Given the description of an element on the screen output the (x, y) to click on. 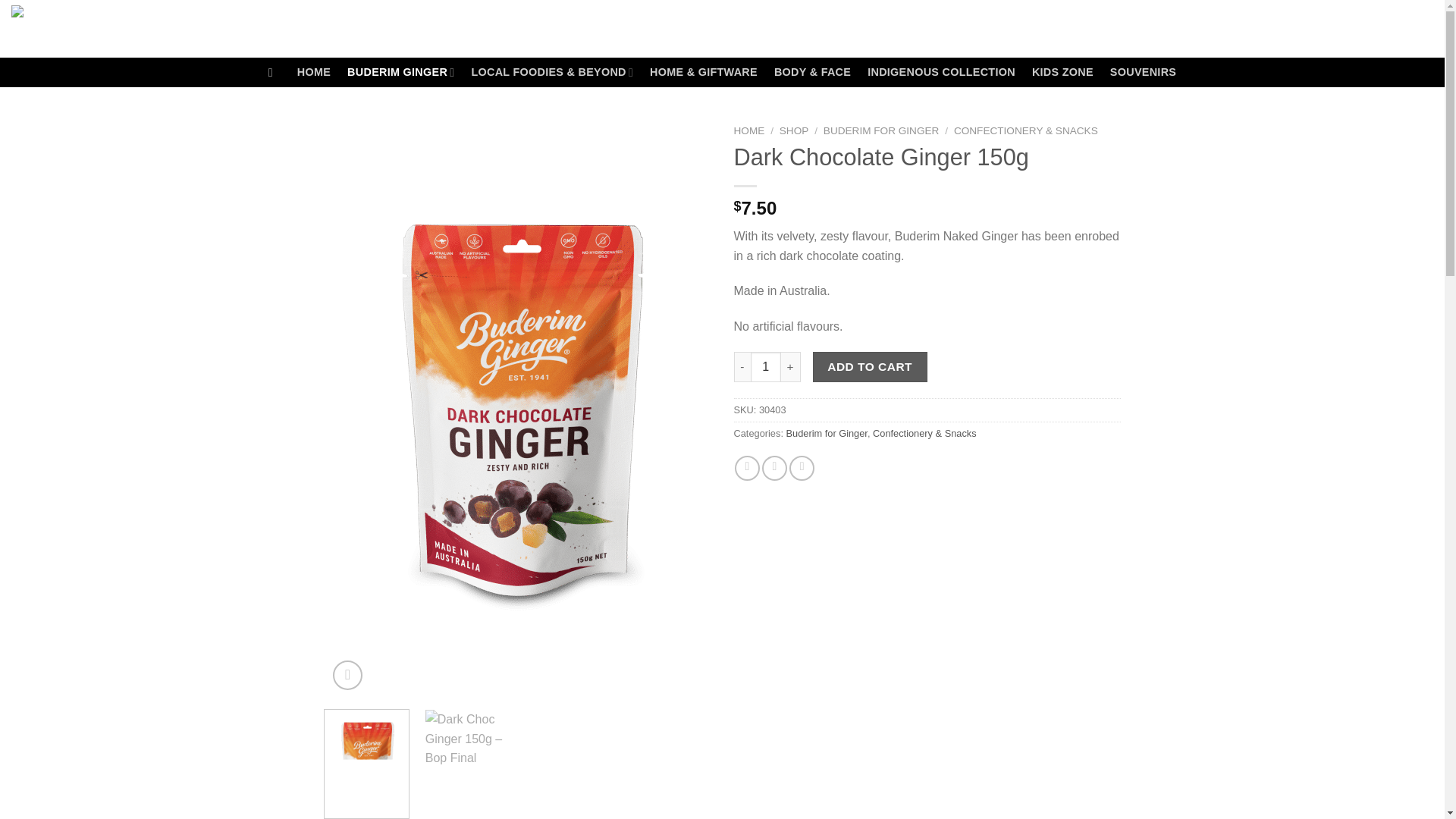
KIDS ZONE (1062, 71)
INDIGENOUS COLLECTION (940, 71)
Share on Facebook (747, 467)
SOUVENIRS (1142, 71)
Zoom (347, 675)
BUDERIM GINGER (400, 71)
HOME (313, 71)
BUDERIM FOODS (1110, 28)
Email to a Friend (774, 467)
Follow on YouTube (154, 29)
Share on Tumblr (801, 467)
THE GINGER FACTORY (966, 28)
1 (765, 367)
Follow on Instagram (135, 29)
